Given the description of an element on the screen output the (x, y) to click on. 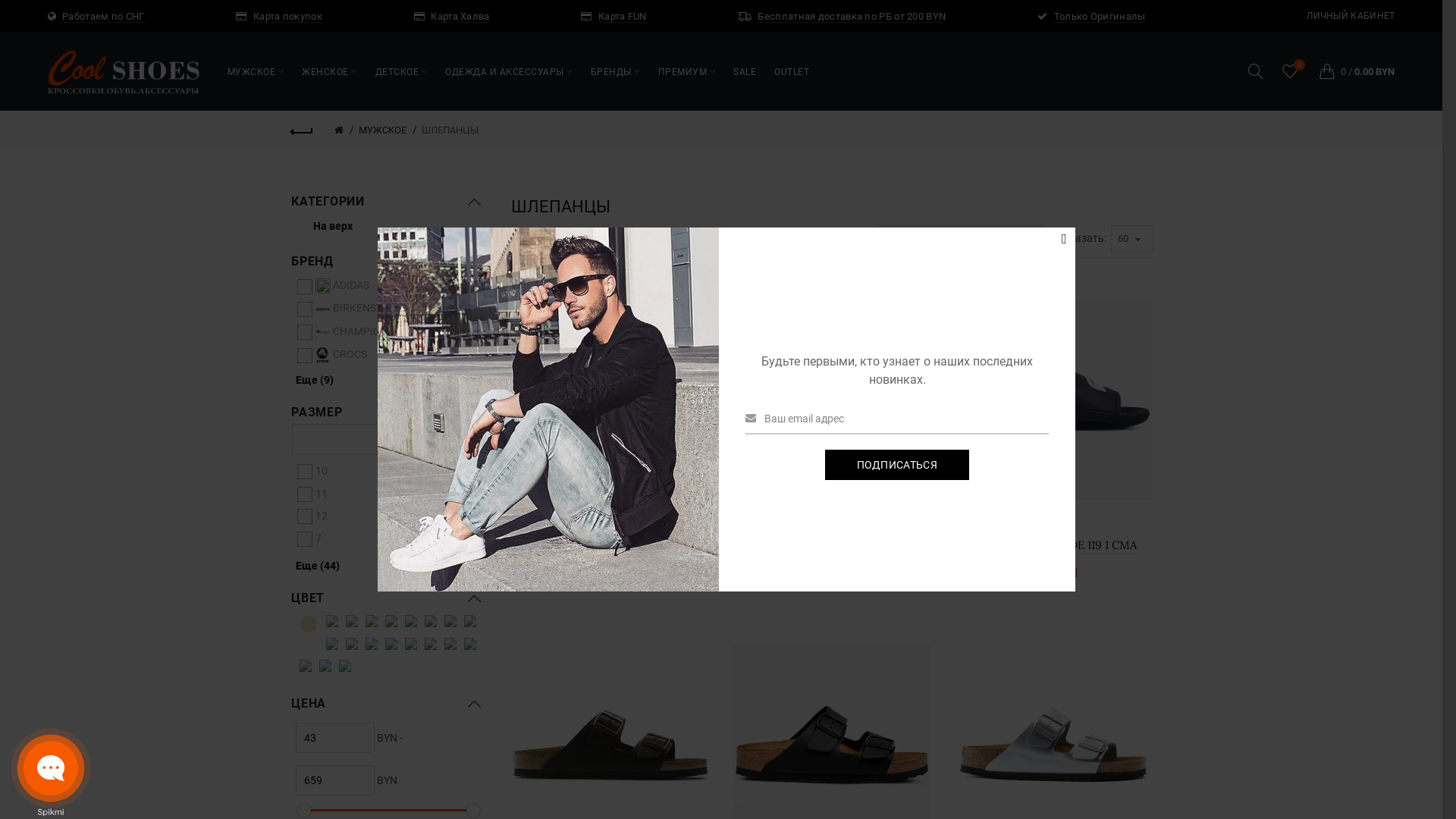
SALE Element type: text (744, 71)
0 / 0.00 BYN Element type: text (1352, 71)
LACOSTE CROCO SLIDE 119 1 CMA Element type: hover (1052, 400)
ADIDAS ADILETTE SHOWER Element type: text (808, 307)
CoolShoes Element type: hover (123, 71)
OUTLET Element type: text (791, 71)
ADIDAS ADILETTE SHOWER Element type: hover (803, 281)
0 Element type: text (1291, 71)
Multicolor Element type: hover (332, 622)
LACOSTE CROCO SLIDE 119 1 CMA Element type: text (1044, 545)
